Given the description of an element on the screen output the (x, y) to click on. 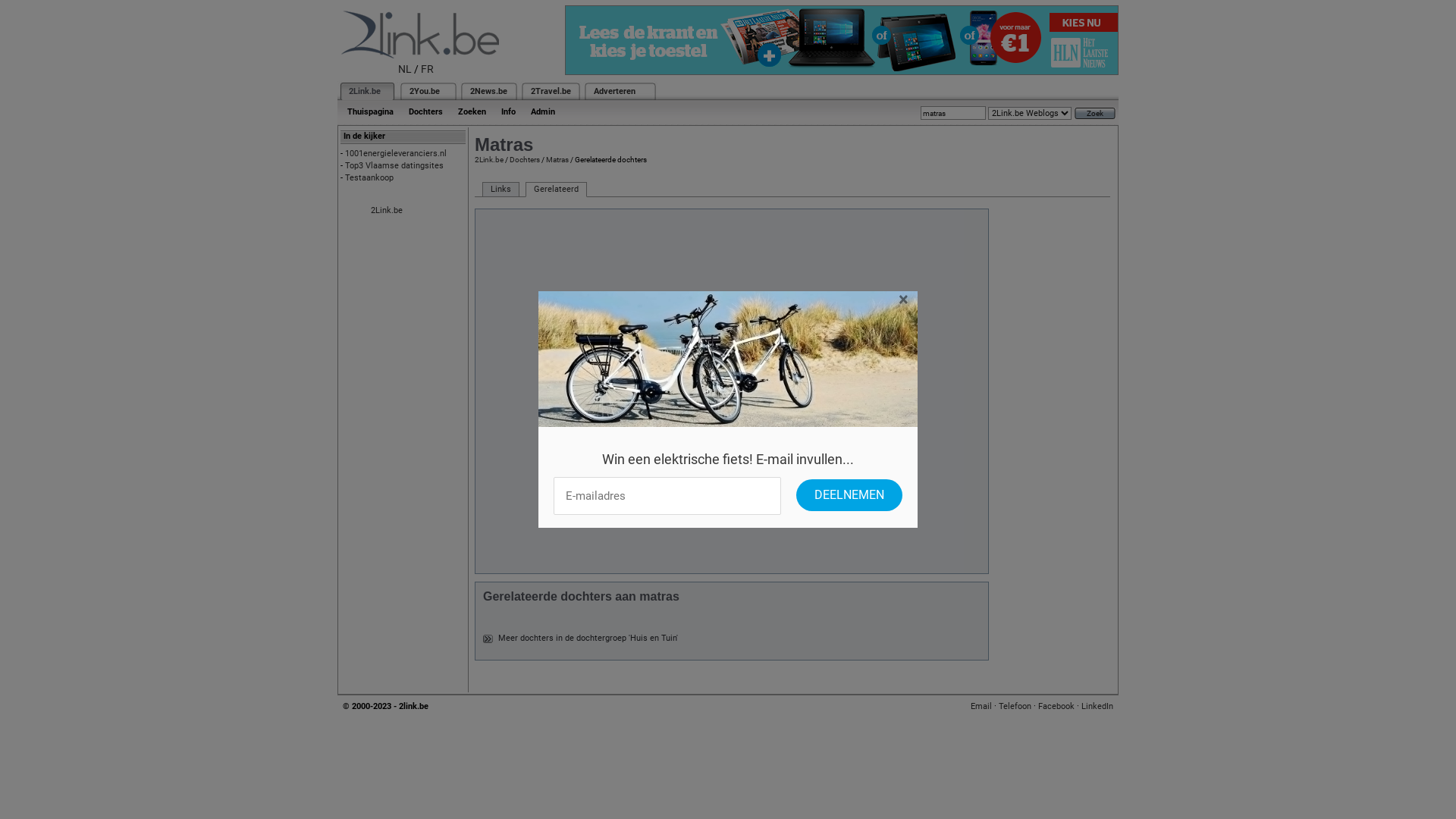
1001energieleveranciers.nl Element type: text (395, 153)
Thuispagina Element type: text (370, 111)
LinkedIn Element type: text (1097, 706)
2Travel.be Element type: text (550, 91)
Zoeken Element type: text (471, 111)
Gerelateerd Element type: text (555, 189)
Links Element type: text (500, 189)
Email Element type: text (980, 706)
2Link.be Element type: text (488, 159)
2You.be Element type: text (424, 91)
Info Element type: text (508, 111)
2Link.be Element type: text (386, 210)
Top3 Vlaamse datingsites Element type: text (394, 165)
FR Element type: text (426, 68)
2Link.be Element type: text (364, 91)
Facebook Element type: text (1056, 706)
2News.be Element type: text (488, 91)
Dochters Element type: text (524, 159)
Testaankoop Element type: text (369, 177)
Telefoon Element type: text (1014, 706)
NL Element type: text (404, 68)
Dochters Element type: text (425, 111)
Admin Element type: text (542, 111)
Adverteren Element type: text (614, 91)
Zoek Element type: text (1094, 113)
Meer dochters in de dochtergroep 'Huis en Tuin' Element type: text (587, 638)
Matras Element type: text (557, 159)
